Given the description of an element on the screen output the (x, y) to click on. 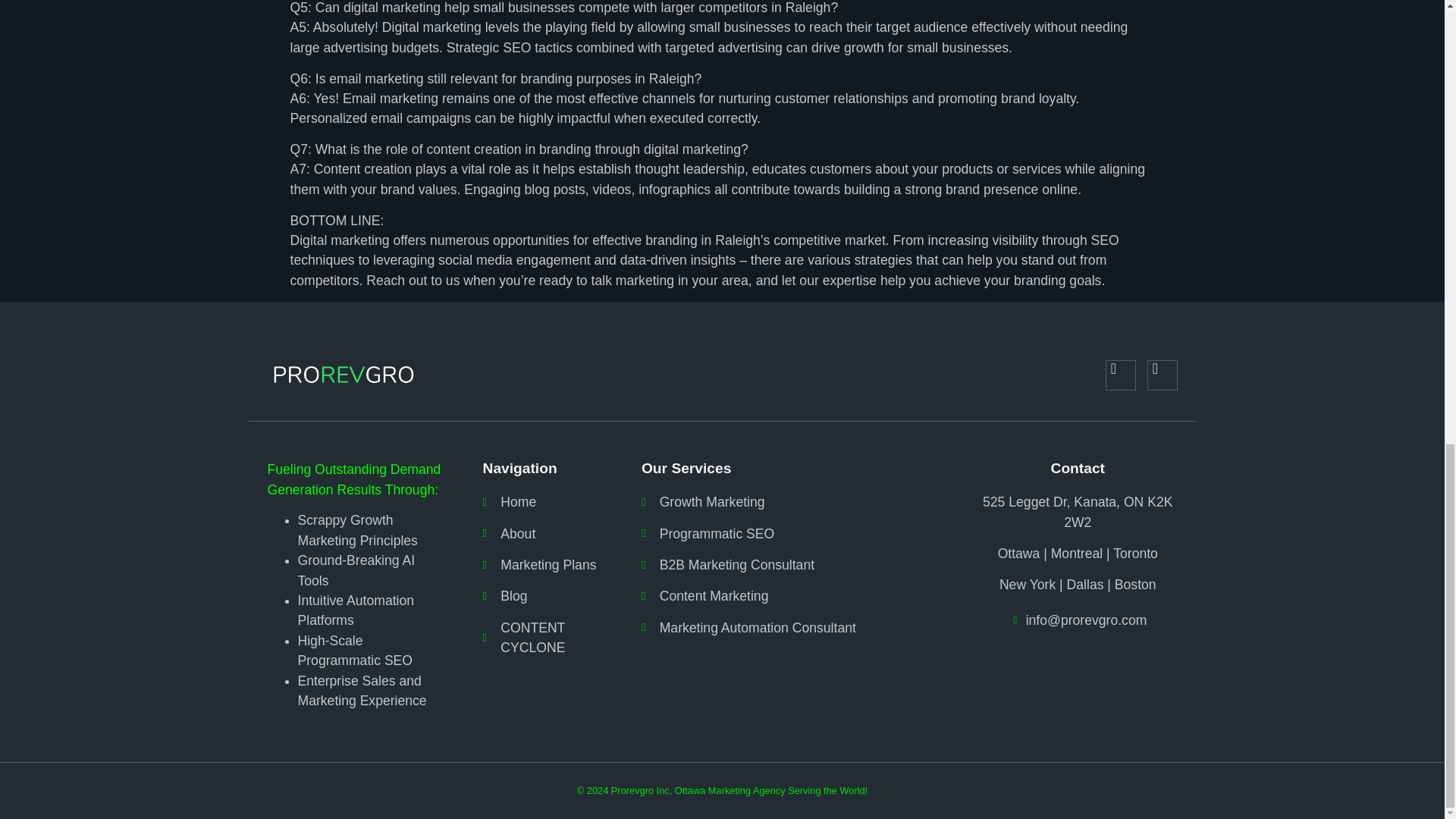
Blog (543, 596)
CONTENT CYCLONE (543, 638)
Programmatic SEO (791, 533)
About (543, 533)
Marketing Plans (543, 564)
Home (543, 501)
Content Marketing (791, 596)
Marketing Automation Consultant (791, 628)
Growth Marketing (791, 501)
B2B Marketing Consultant (791, 564)
